Given the description of an element on the screen output the (x, y) to click on. 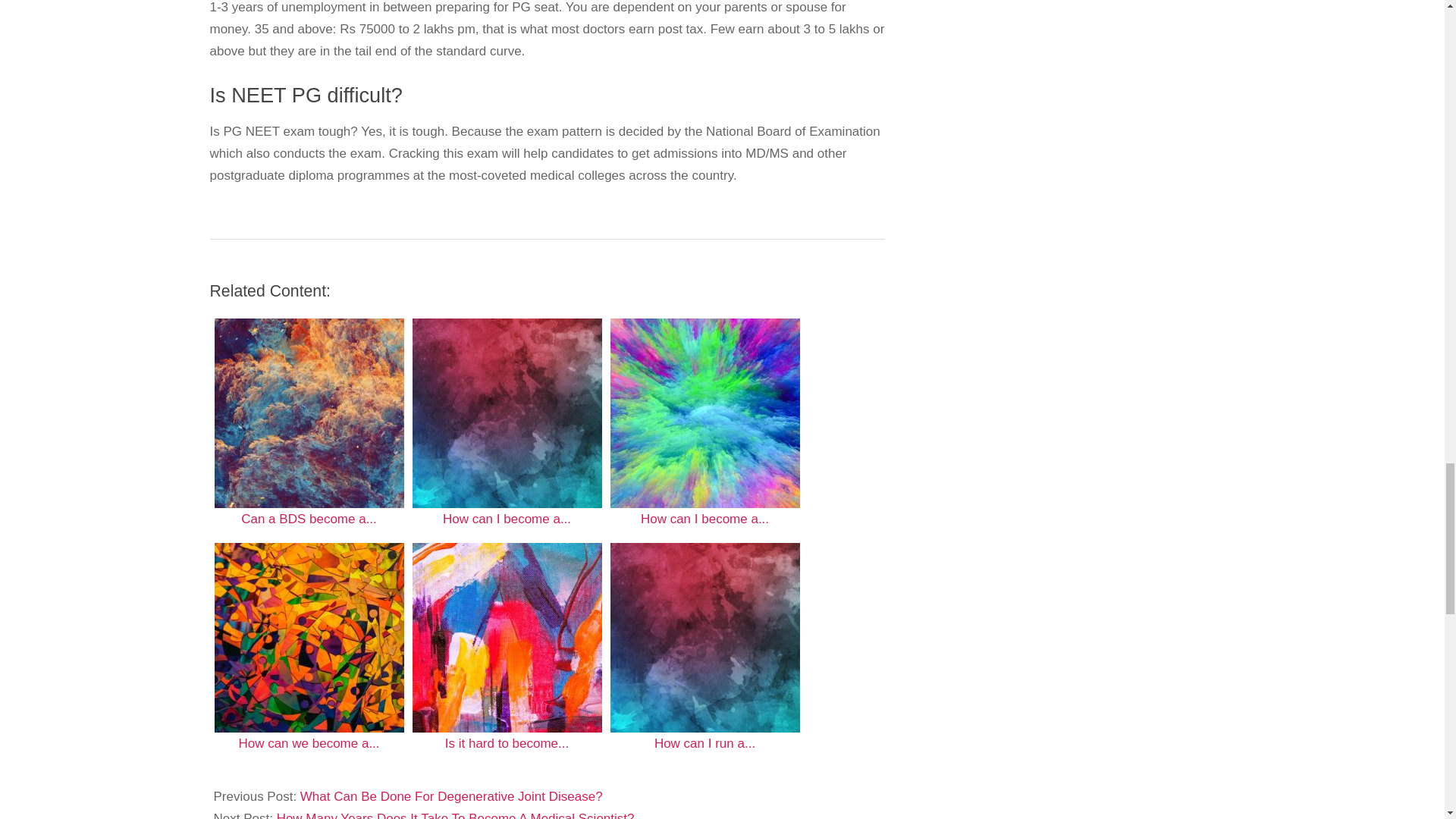
How can I become a doctor without NEET? (704, 412)
How can I run a medical store successfully? (704, 637)
How can I become a army doctor after 12th? (507, 412)
How can we become a... (308, 648)
Can a BDS become a medical officer? (308, 412)
How can we become a medical officer? (308, 637)
How can I become a... (704, 423)
How can I run a... (704, 648)
How can I become a... (507, 423)
How Many Years Does It Take To Become A Medical Scientist? (455, 815)
Is it hard to become... (507, 648)
What Can Be Done For Degenerative Joint Disease? (450, 796)
Can a BDS become a... (308, 423)
Is it hard to become a sonographer? (507, 637)
